Given the description of an element on the screen output the (x, y) to click on. 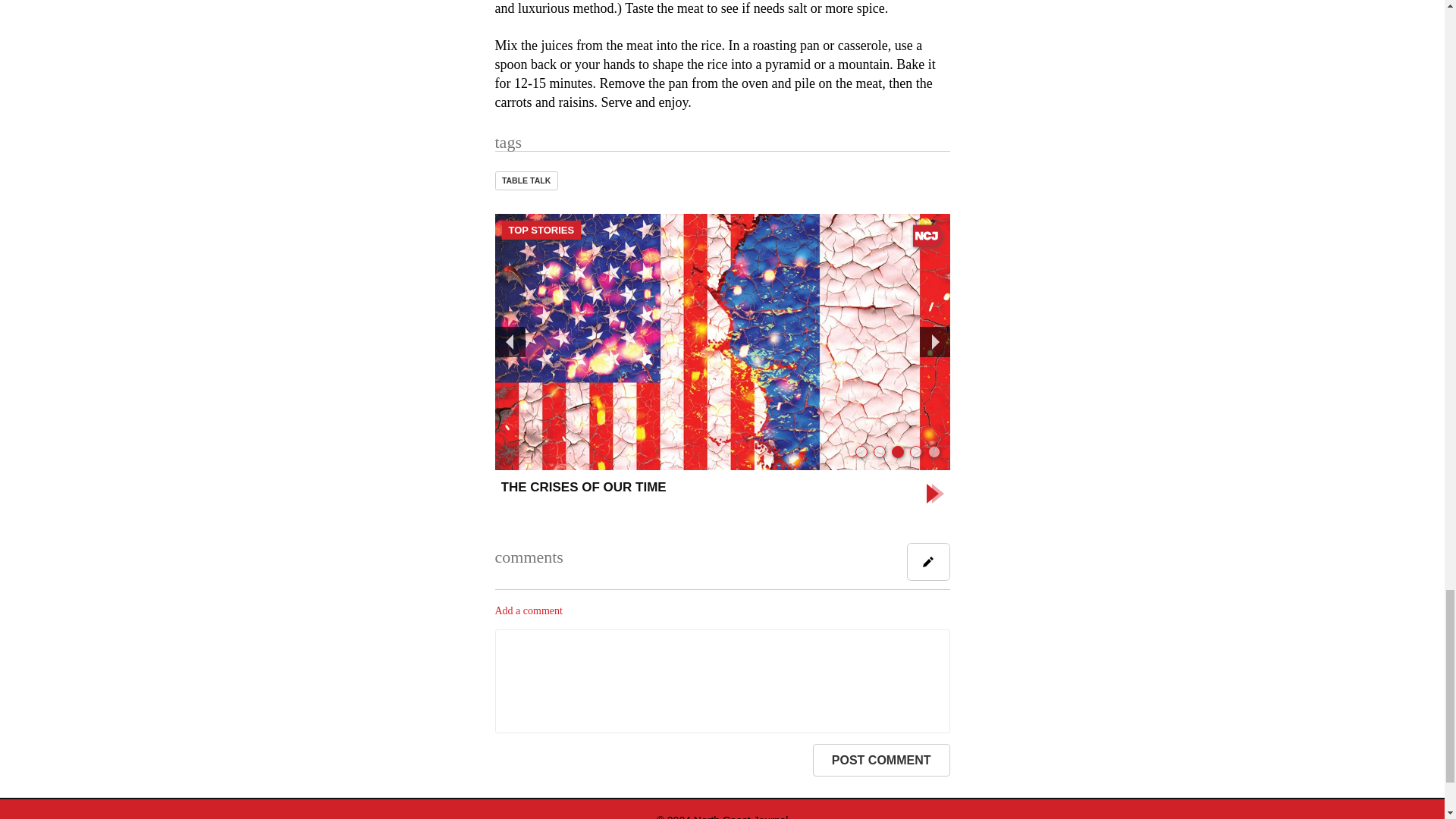
THE CRISES OF OUR TIME (721, 494)
TABLE TALK (526, 180)
Post Comment (881, 760)
Add a comment (528, 610)
ADD A COMMENT (928, 561)
Post Comment (881, 760)
